Given the description of an element on the screen output the (x, y) to click on. 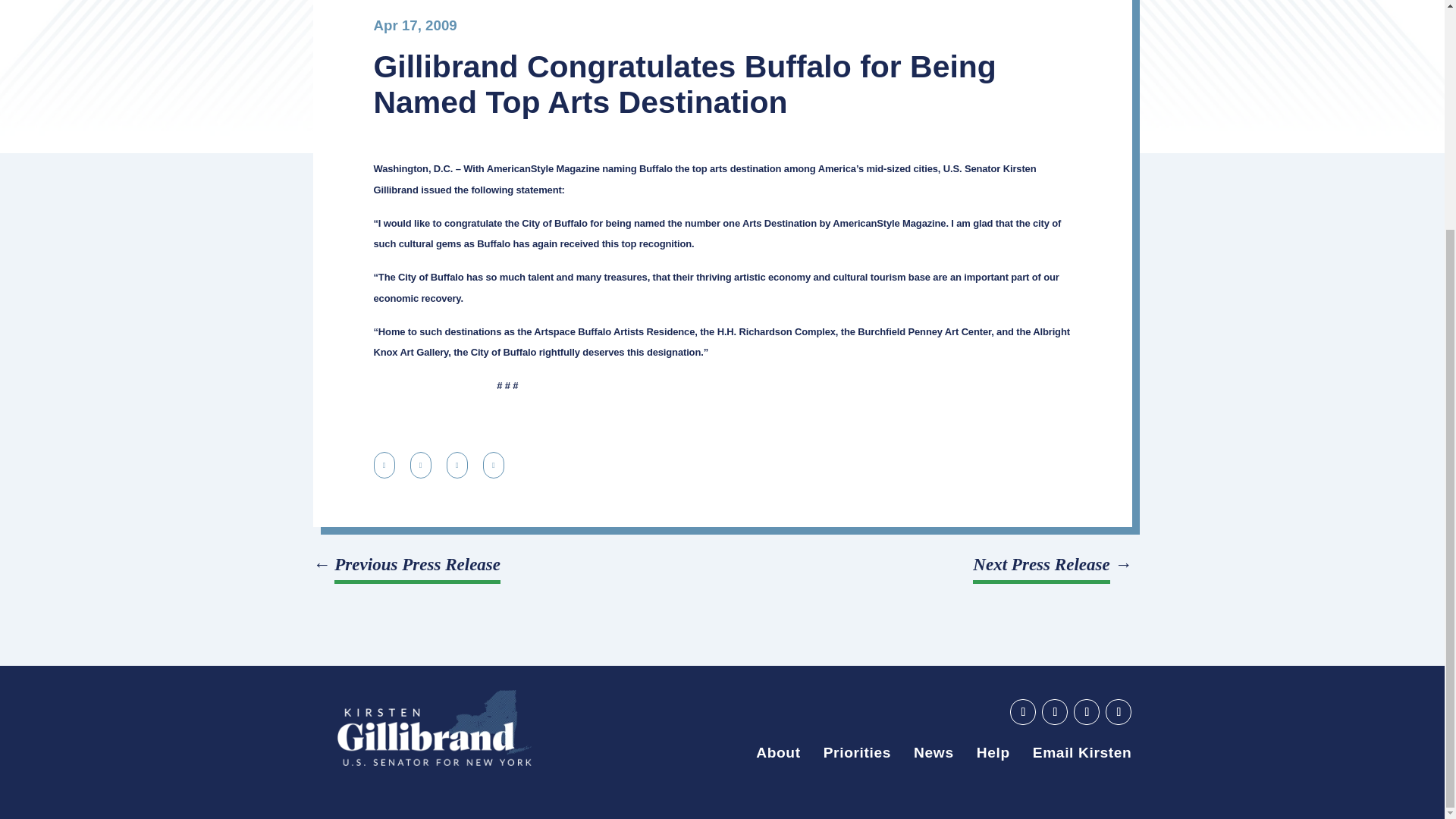
Follow on Twitter (1086, 711)
Follow on Youtube (1022, 711)
Follow on Facebook (1054, 711)
gillibrand-logo (434, 727)
Follow on Instagram (1118, 711)
